Given the description of an element on the screen output the (x, y) to click on. 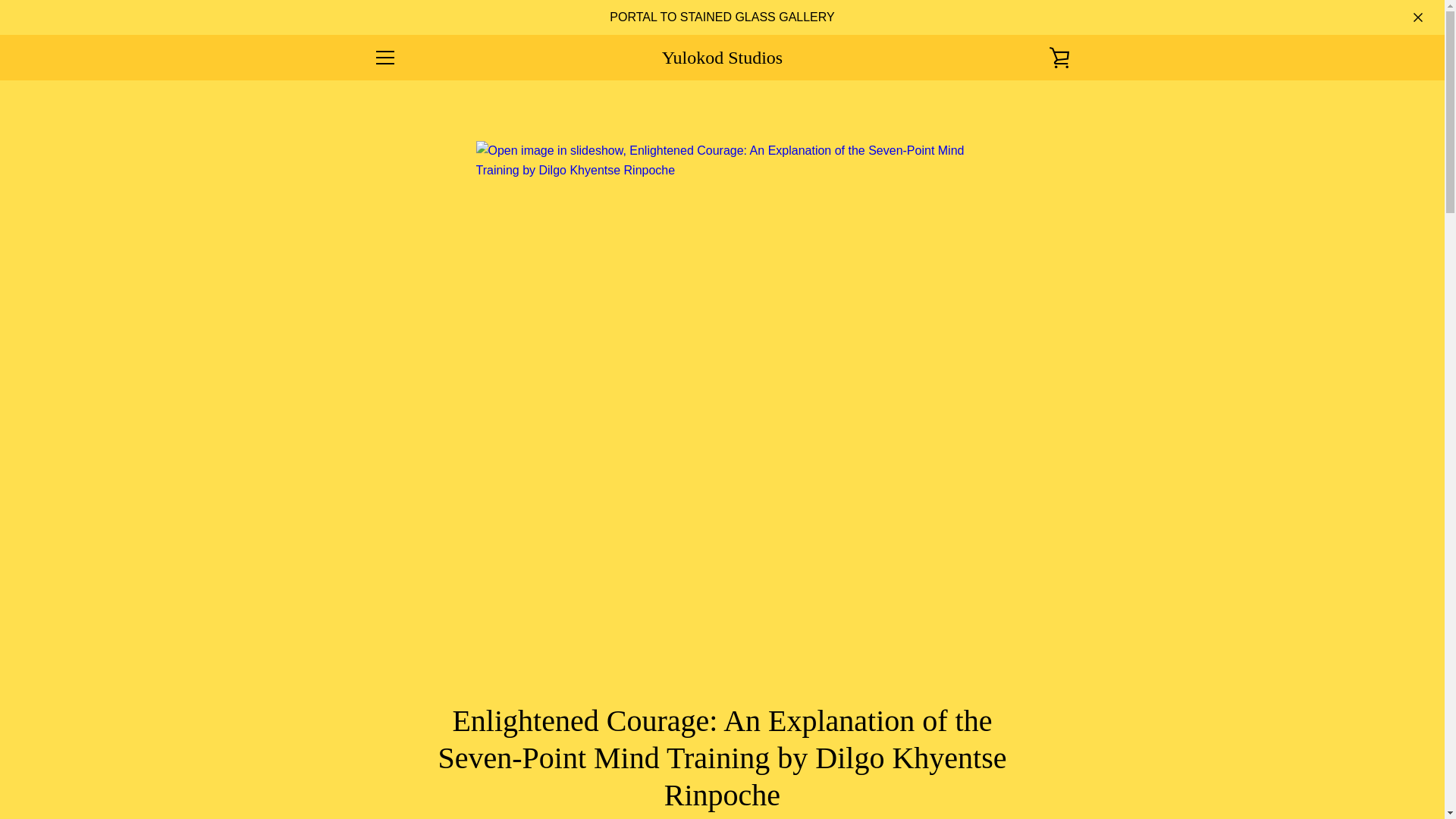
Diners Club (953, 755)
Yulokod Studios on Twitter (399, 765)
PayPal (988, 778)
Yulokod Studios on YouTube (477, 765)
Yulokod Studios on Facebook (372, 765)
Visa (1057, 778)
Mastercard (1057, 755)
Yulokod Studios on Pinterest (424, 765)
Apple Pay (918, 755)
MENU (384, 57)
Yulokod Studios on Instagram (452, 765)
Google Pay (1022, 755)
Discover (988, 755)
Shop Pay (1022, 778)
